Given the description of an element on the screen output the (x, y) to click on. 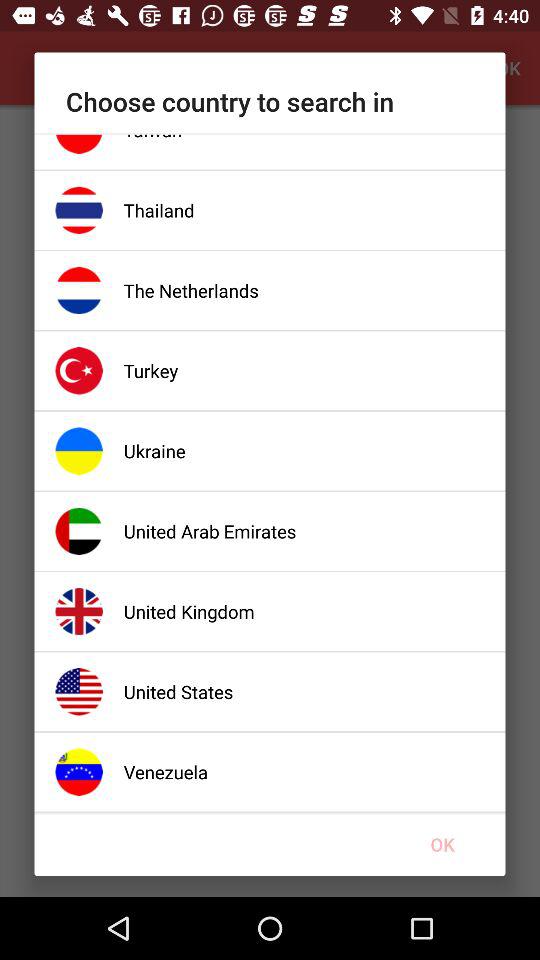
click icon below the venezuela (442, 844)
